Given the description of an element on the screen output the (x, y) to click on. 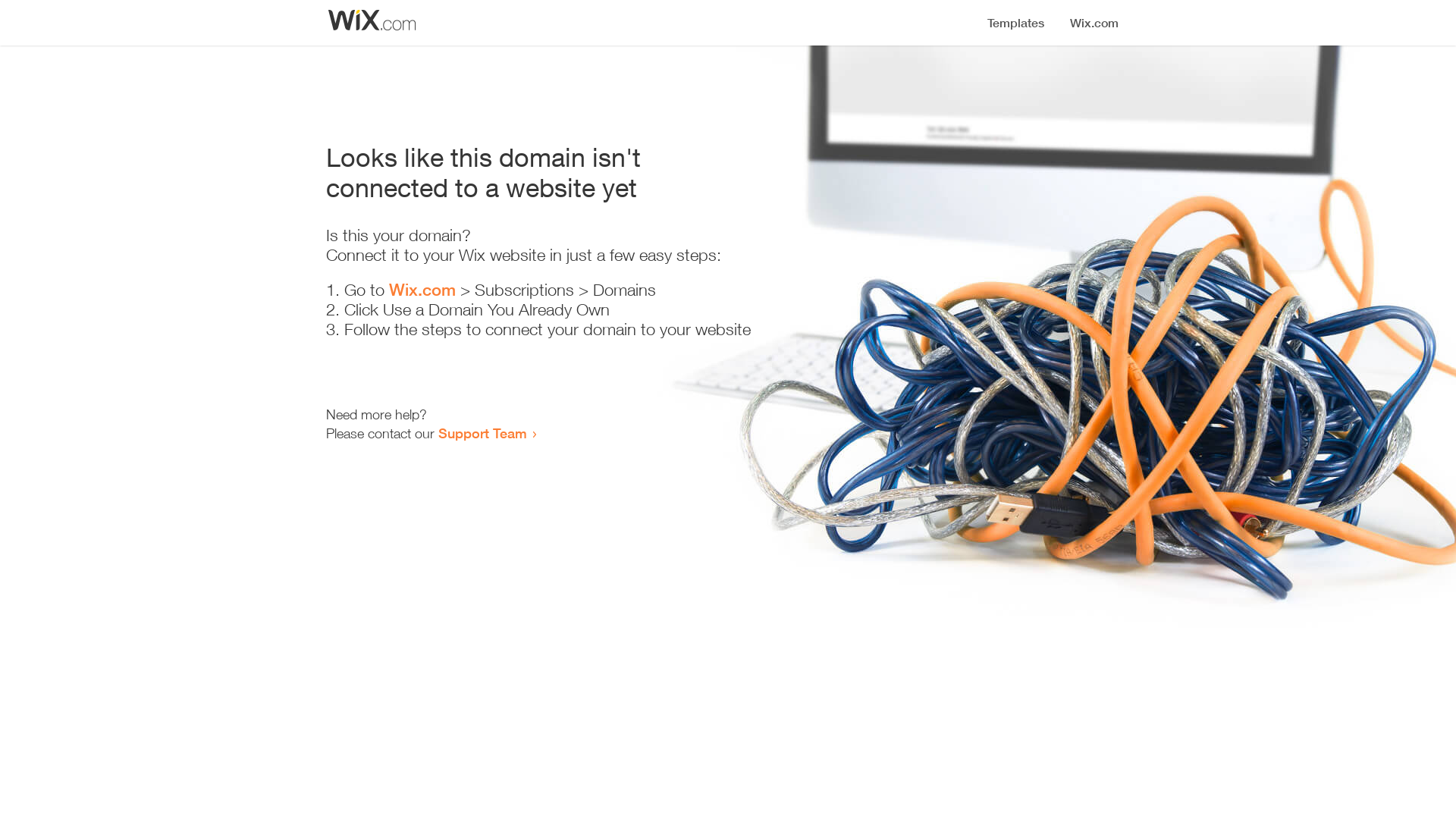
Support Team Element type: text (482, 432)
Wix.com Element type: text (422, 289)
